Given the description of an element on the screen output the (x, y) to click on. 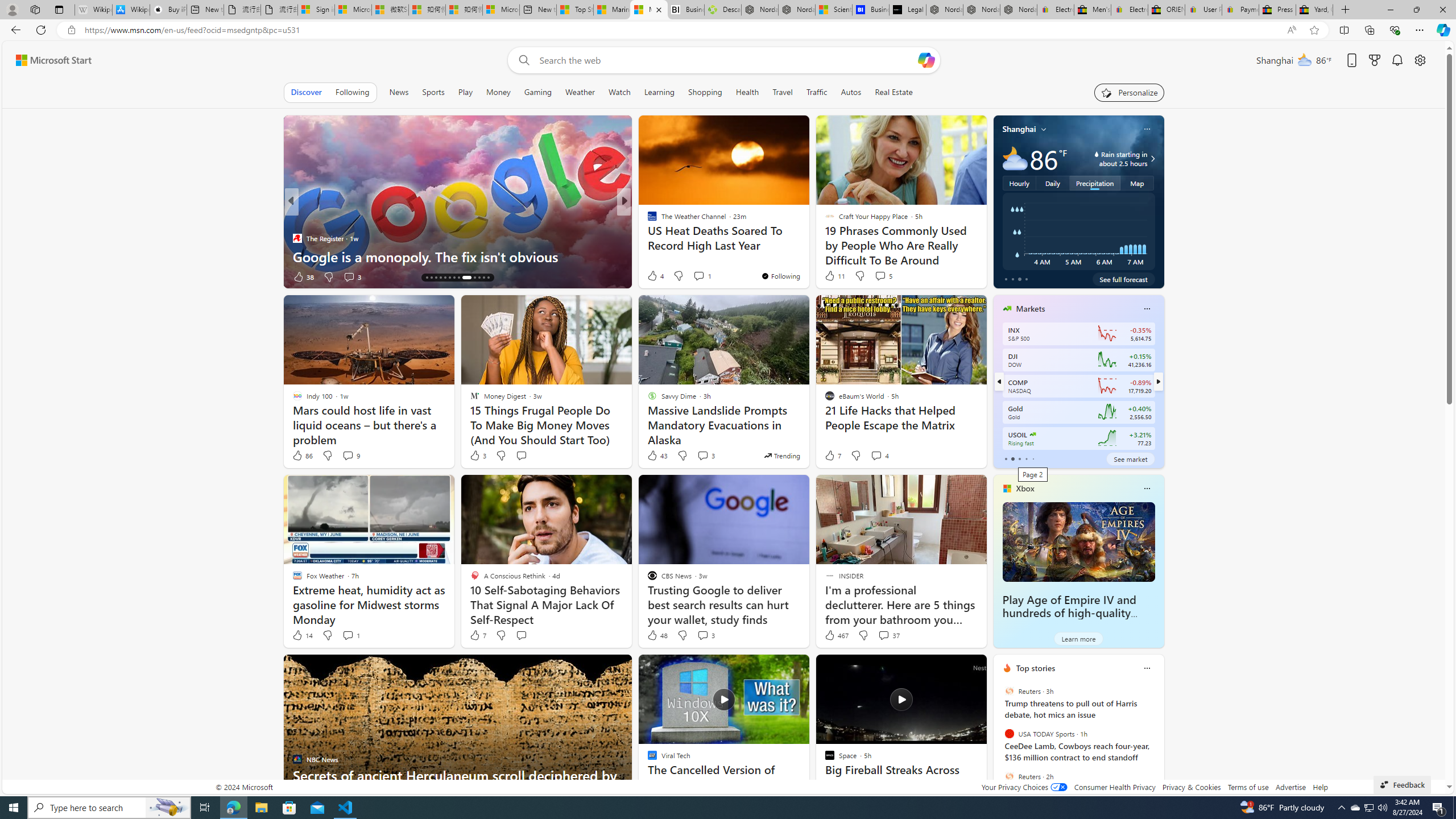
AutomationID: tab-25 (483, 277)
View comments 5 Comment (882, 275)
next (1158, 741)
